Given the description of an element on the screen output the (x, y) to click on. 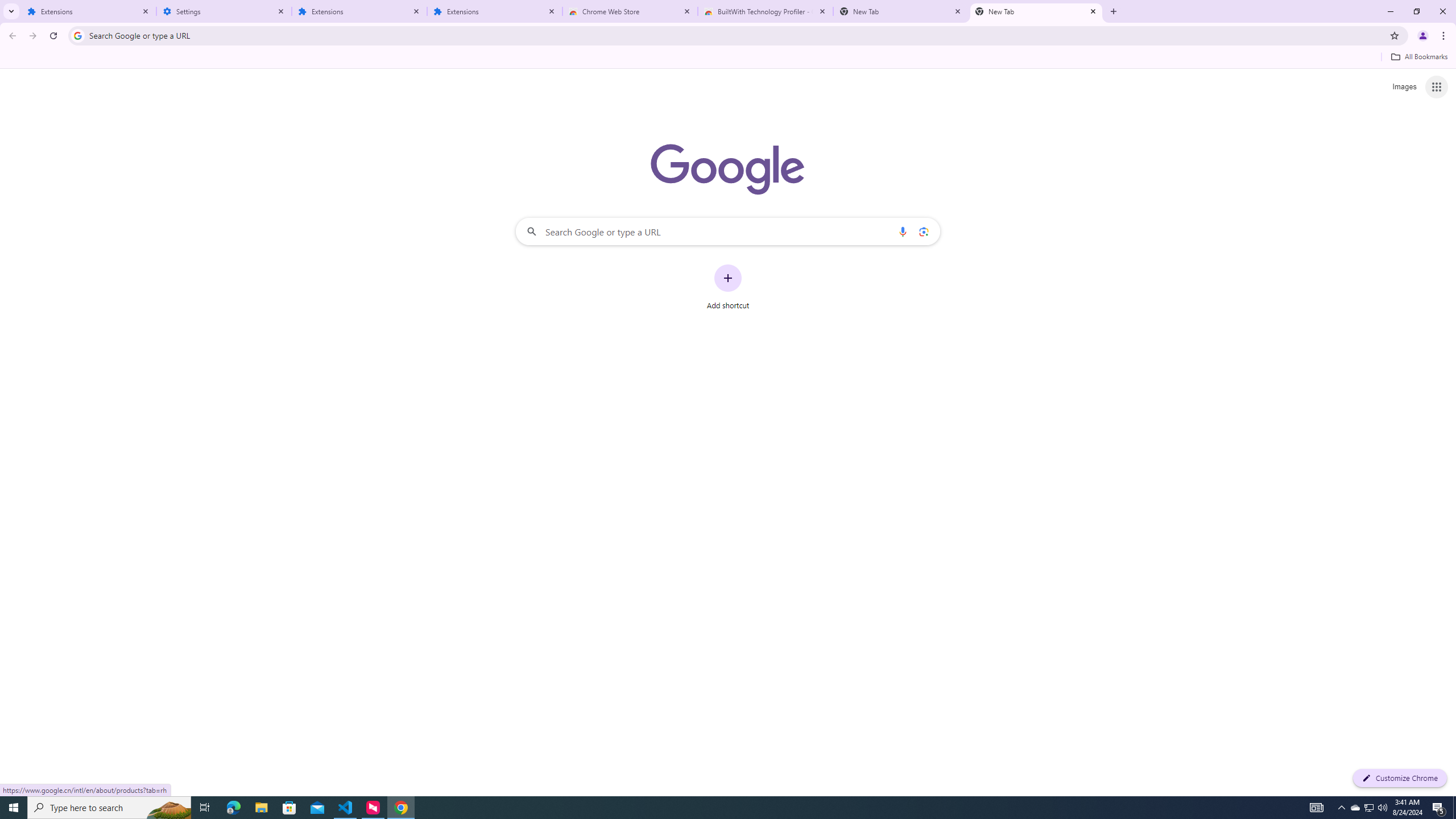
Extensions (88, 11)
Bookmarks (728, 58)
Search by image (922, 230)
